Given the description of an element on the screen output the (x, y) to click on. 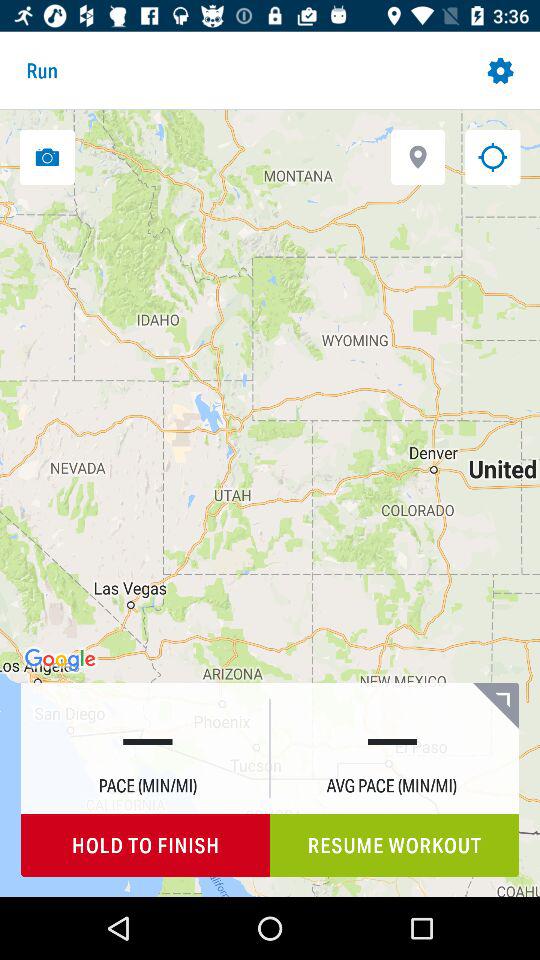
turn off the item to the right of the hold to finish icon (394, 845)
